Given the description of an element on the screen output the (x, y) to click on. 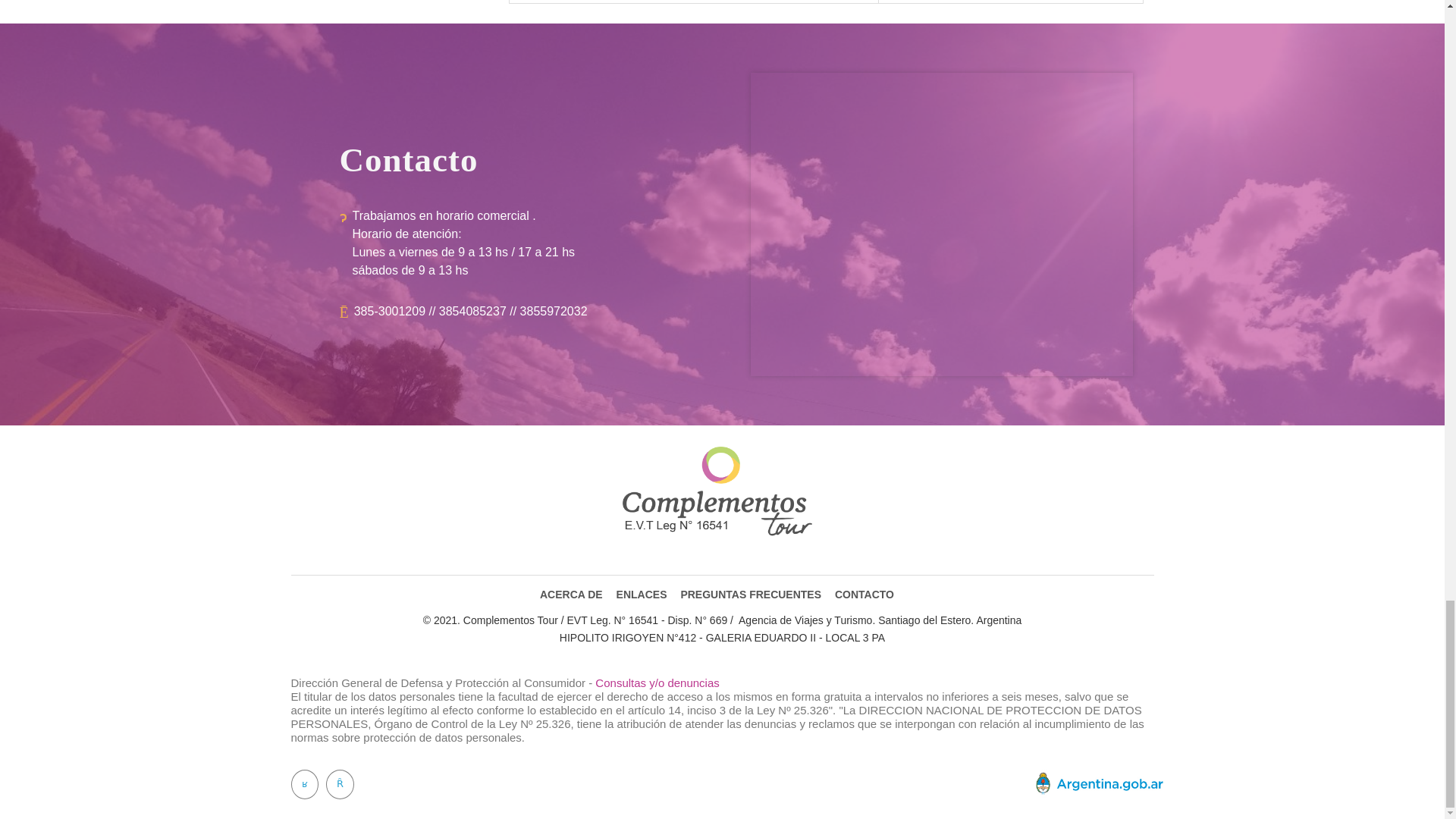
ENLACES (640, 594)
ACERCA DE (571, 594)
CONTACTO (863, 594)
Everything you need to know about the CPA Exam (1009, 2)
PREGUNTAS FRECUENTES (750, 594)
